Given the description of an element on the screen output the (x, y) to click on. 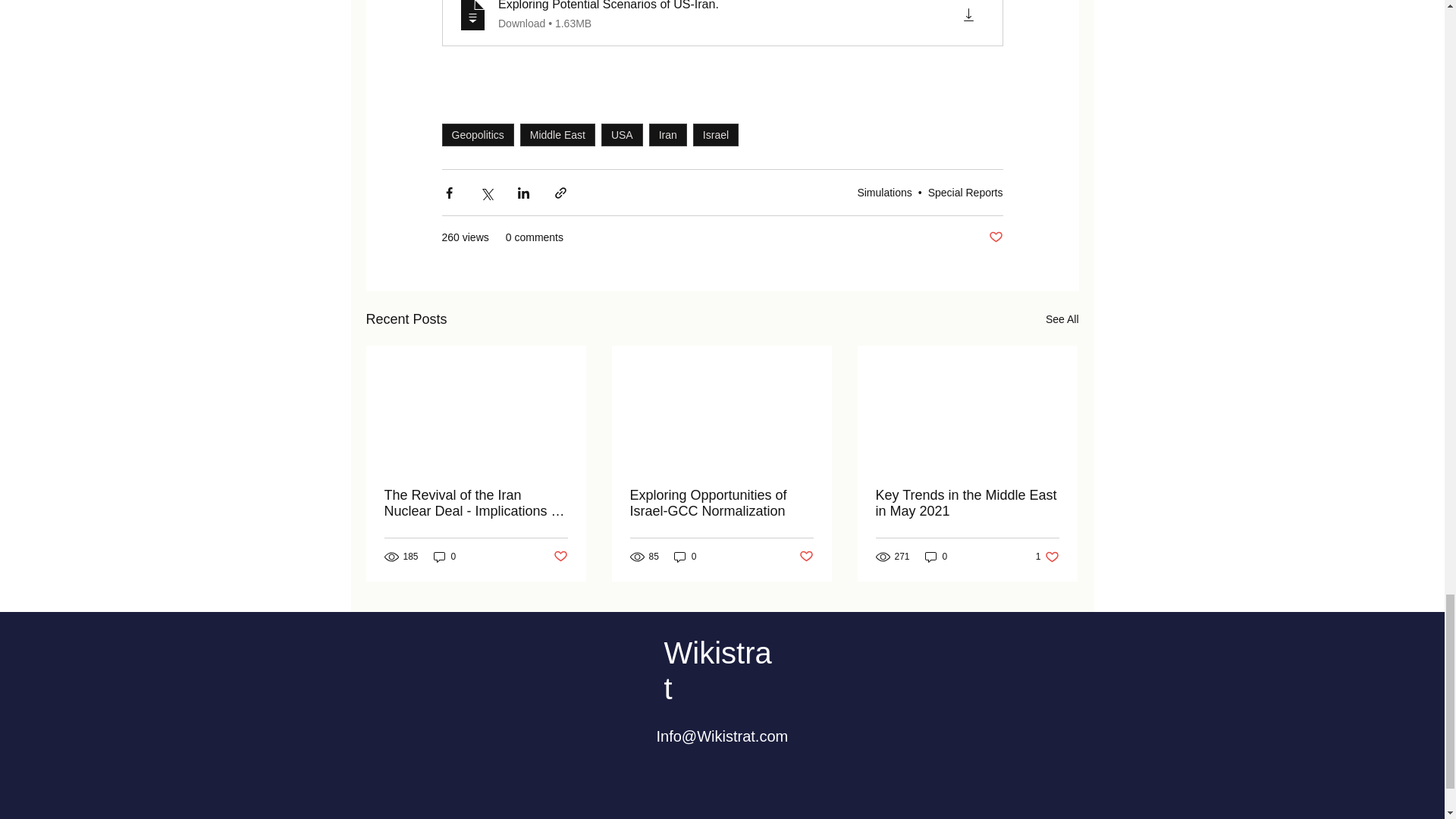
Geopolitics (477, 134)
Middle East (557, 134)
USA (622, 134)
Israel (715, 134)
Iran (668, 134)
